Given the description of an element on the screen output the (x, y) to click on. 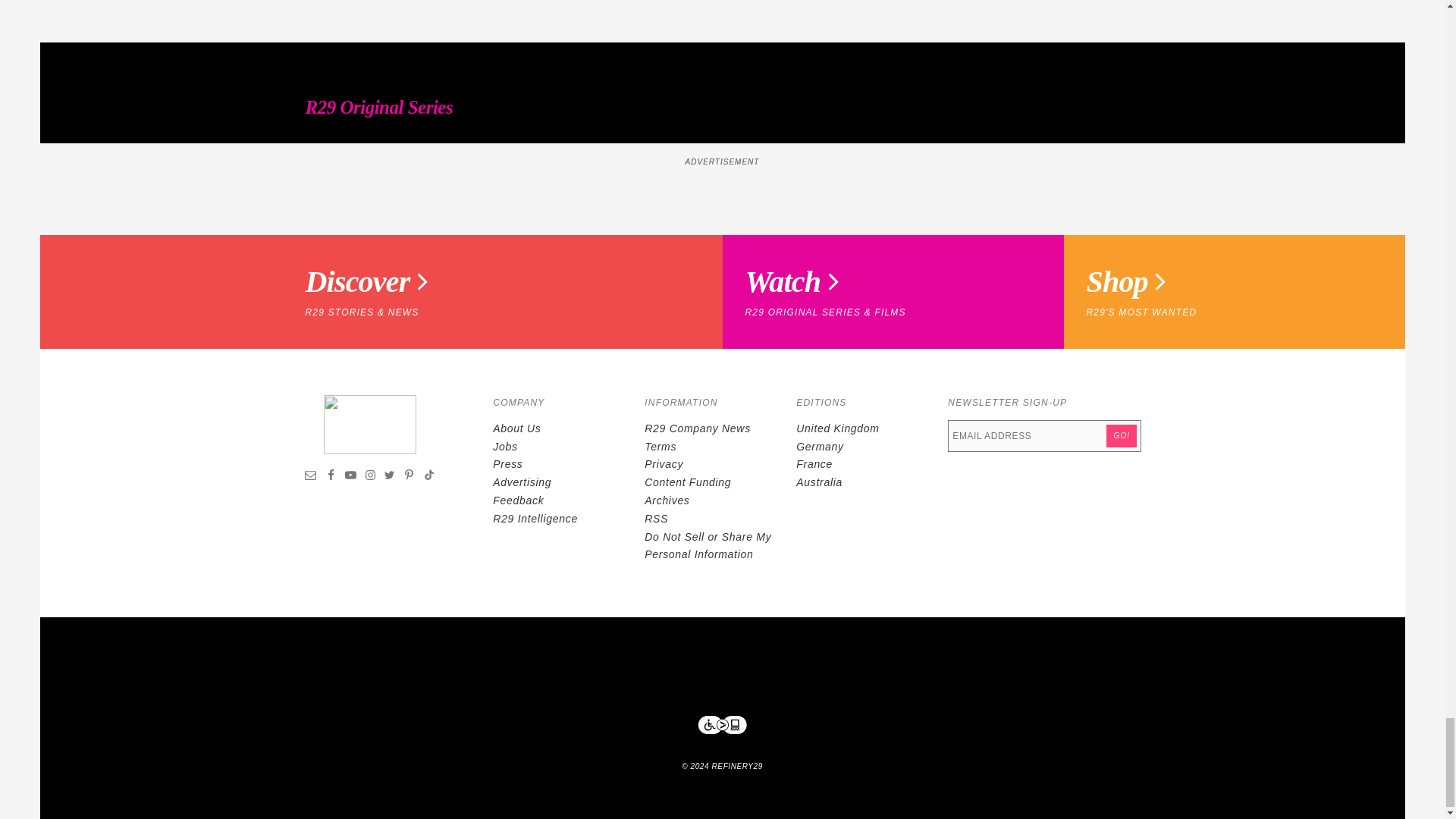
Visit Refinery29 on Pinterest (408, 476)
Visit Refinery29 on Twitter (389, 476)
Sign up for newsletters (310, 476)
Visit Refinery29 on Facebook (331, 476)
Visit Refinery29 on YouTube (350, 476)
Visit Refinery29 on Instagram (370, 476)
